Given the description of an element on the screen output the (x, y) to click on. 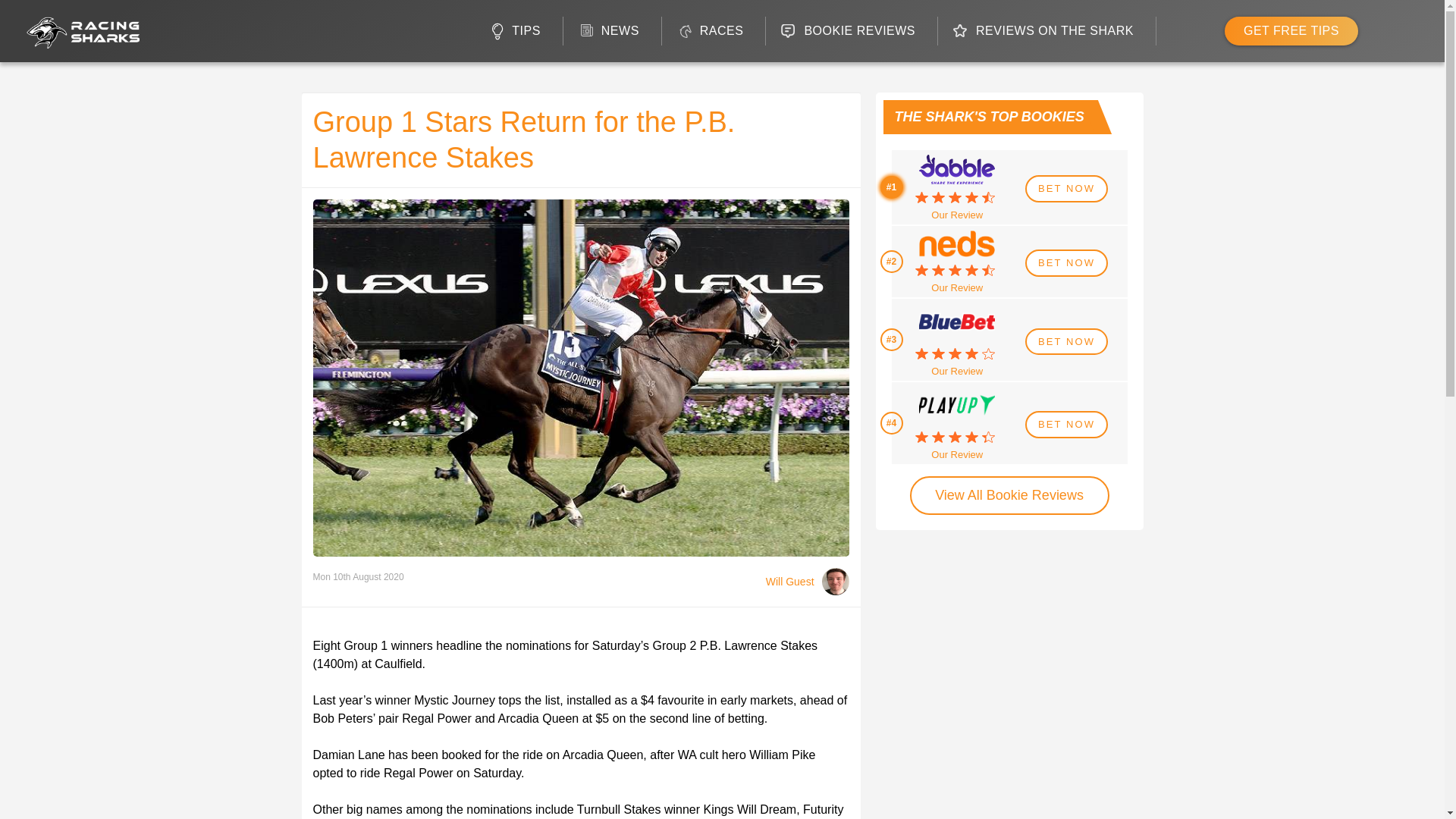
RACES (714, 31)
Our Review (956, 215)
Our Review (956, 371)
NEWS (612, 31)
Our Review (956, 287)
BET NOW (1066, 262)
GET FREE TIPS (1291, 30)
News (612, 31)
REVIEWS ON THE SHARK (1046, 31)
Races (714, 31)
